Given the description of an element on the screen output the (x, y) to click on. 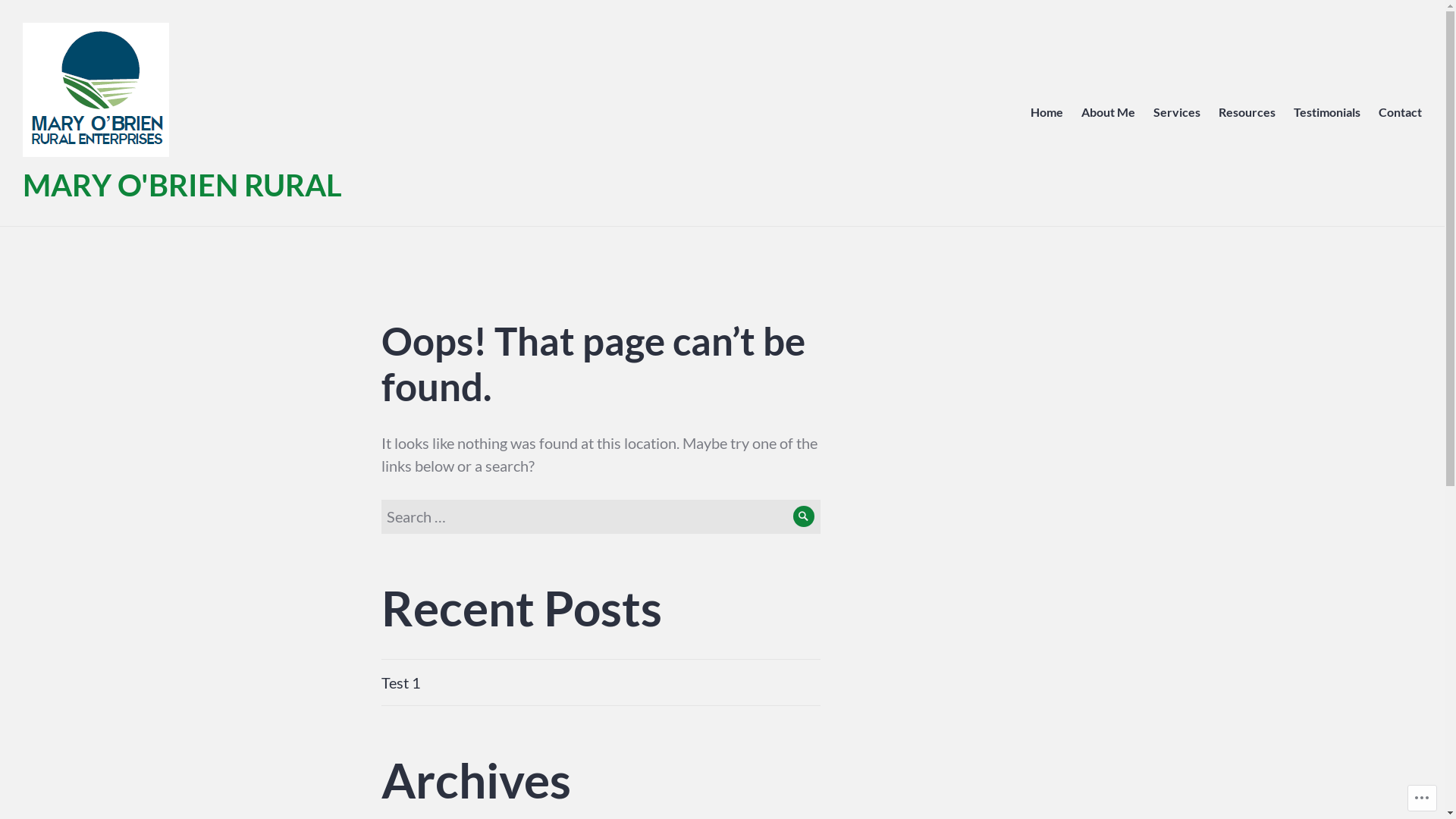
Testimonials Element type: text (1326, 112)
Search for: Element type: hover (600, 516)
MARY O'BRIEN RURAL Element type: text (182, 184)
Services Element type: text (1176, 112)
Test 1 Element type: text (400, 682)
Home Element type: text (1046, 112)
Resources Element type: text (1246, 112)
About Me Element type: text (1108, 112)
Contact Element type: text (1399, 112)
